Given the description of an element on the screen output the (x, y) to click on. 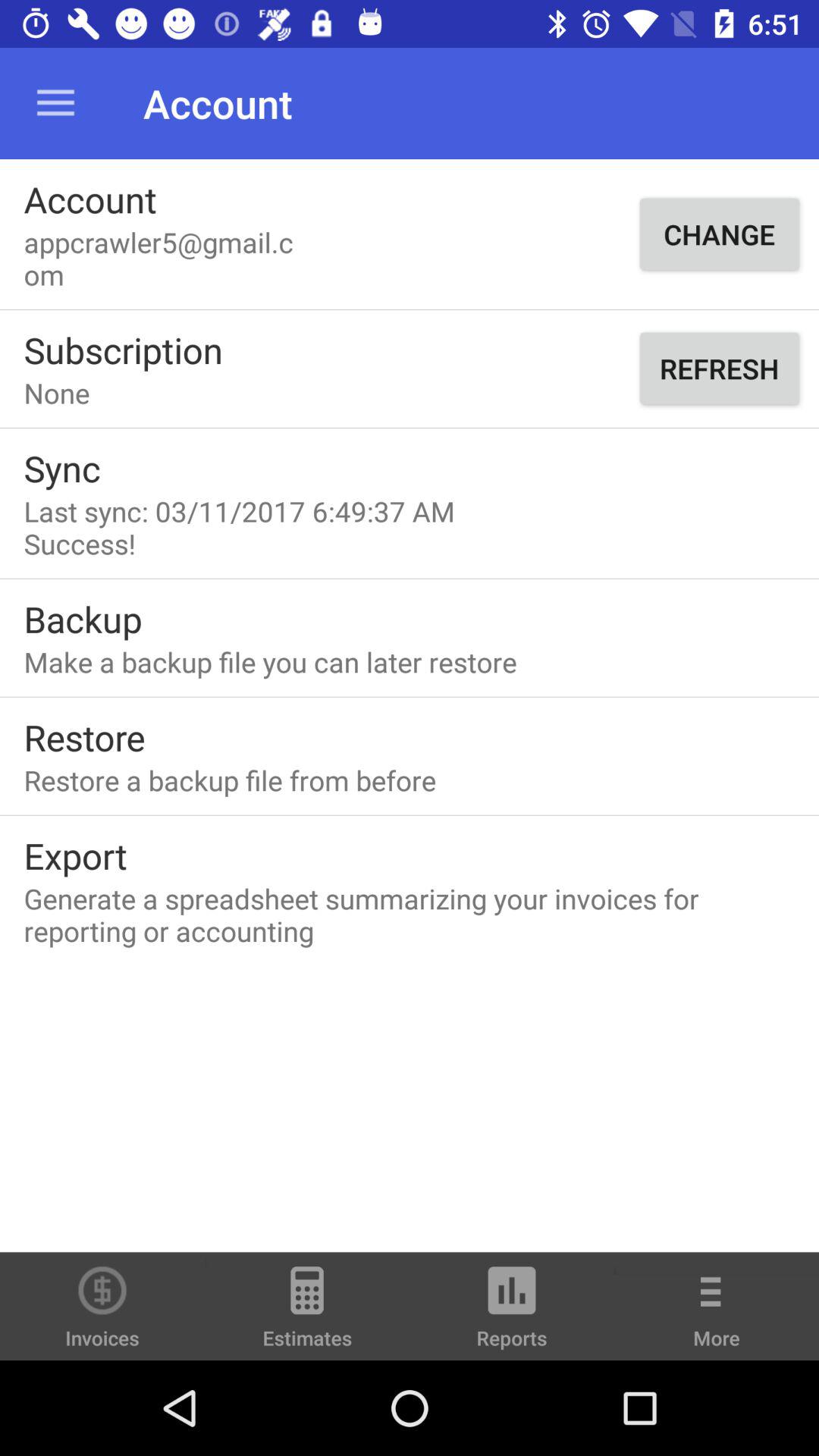
tap change (719, 234)
